Given the description of an element on the screen output the (x, y) to click on. 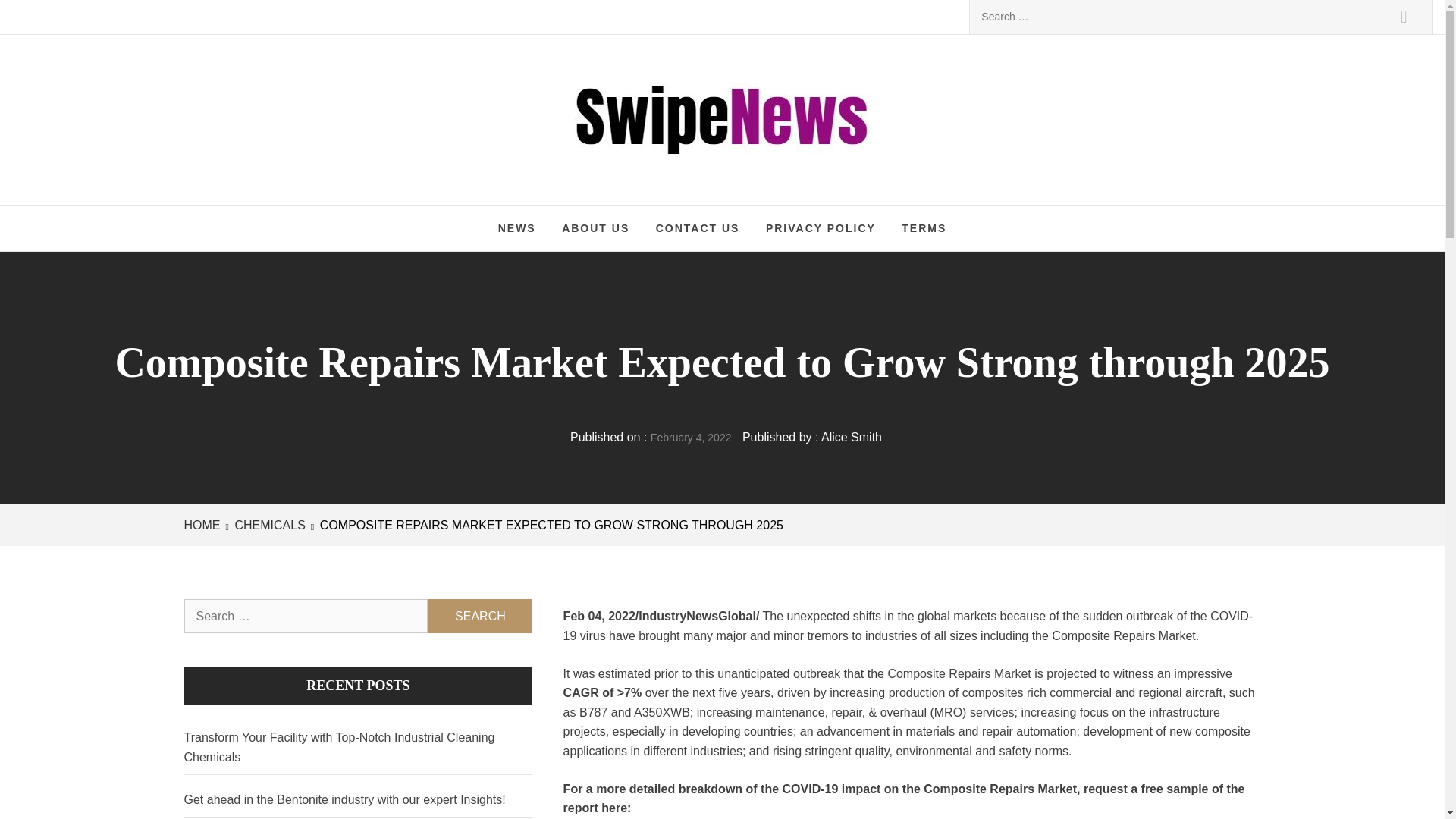
Alice Smith (851, 436)
Composite Repairs Market (958, 673)
Search (480, 615)
CONTACT US (698, 227)
Search (1403, 17)
PRIVACY POLICY (820, 227)
TERMS (923, 227)
Search (1403, 17)
February 4, 2022 (691, 437)
Search (480, 615)
CHEMICALS (268, 524)
HOME (204, 524)
Swipe News (663, 90)
